Given the description of an element on the screen output the (x, y) to click on. 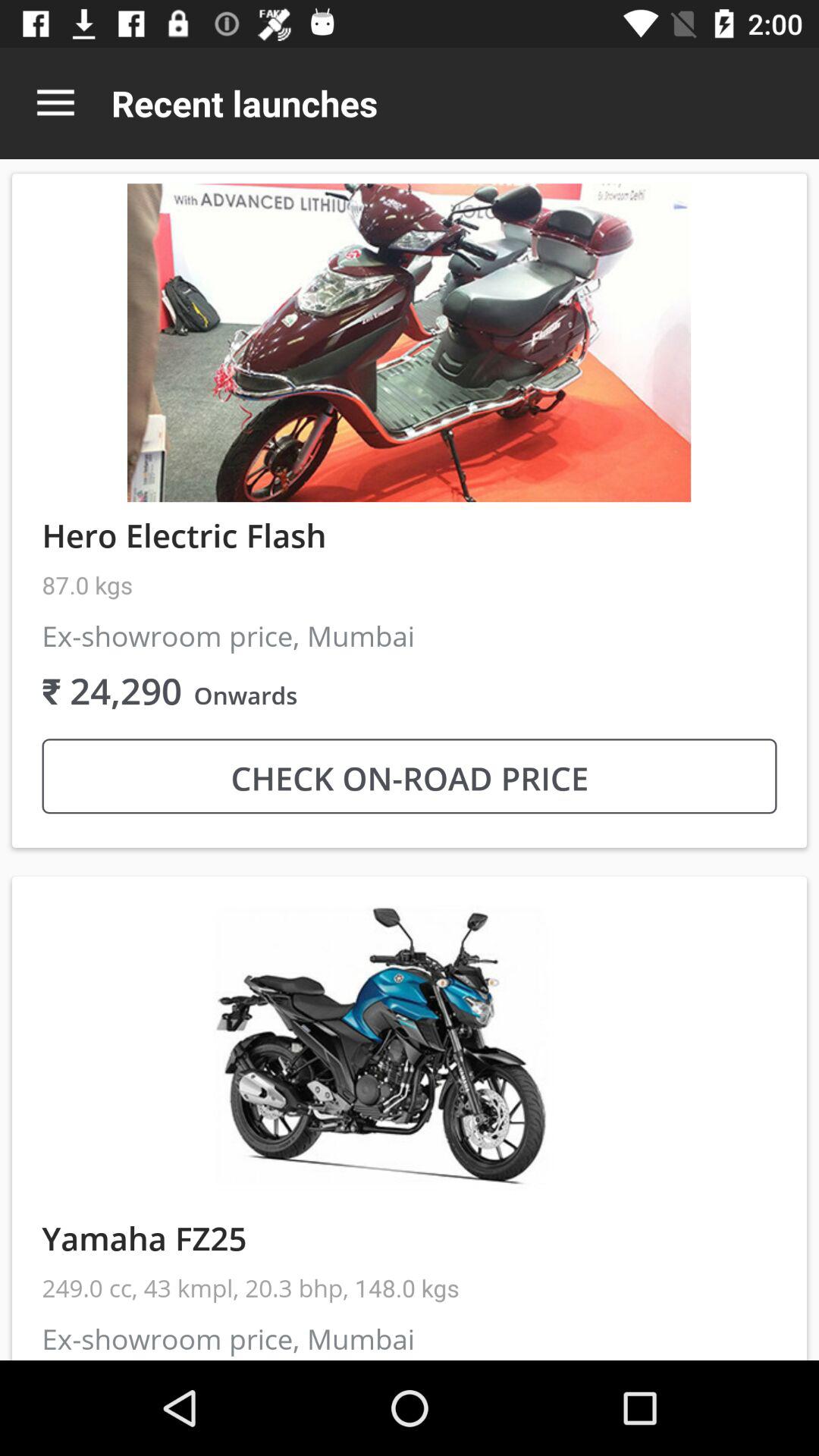
press the item next to the recent launches item (55, 103)
